Given the description of an element on the screen output the (x, y) to click on. 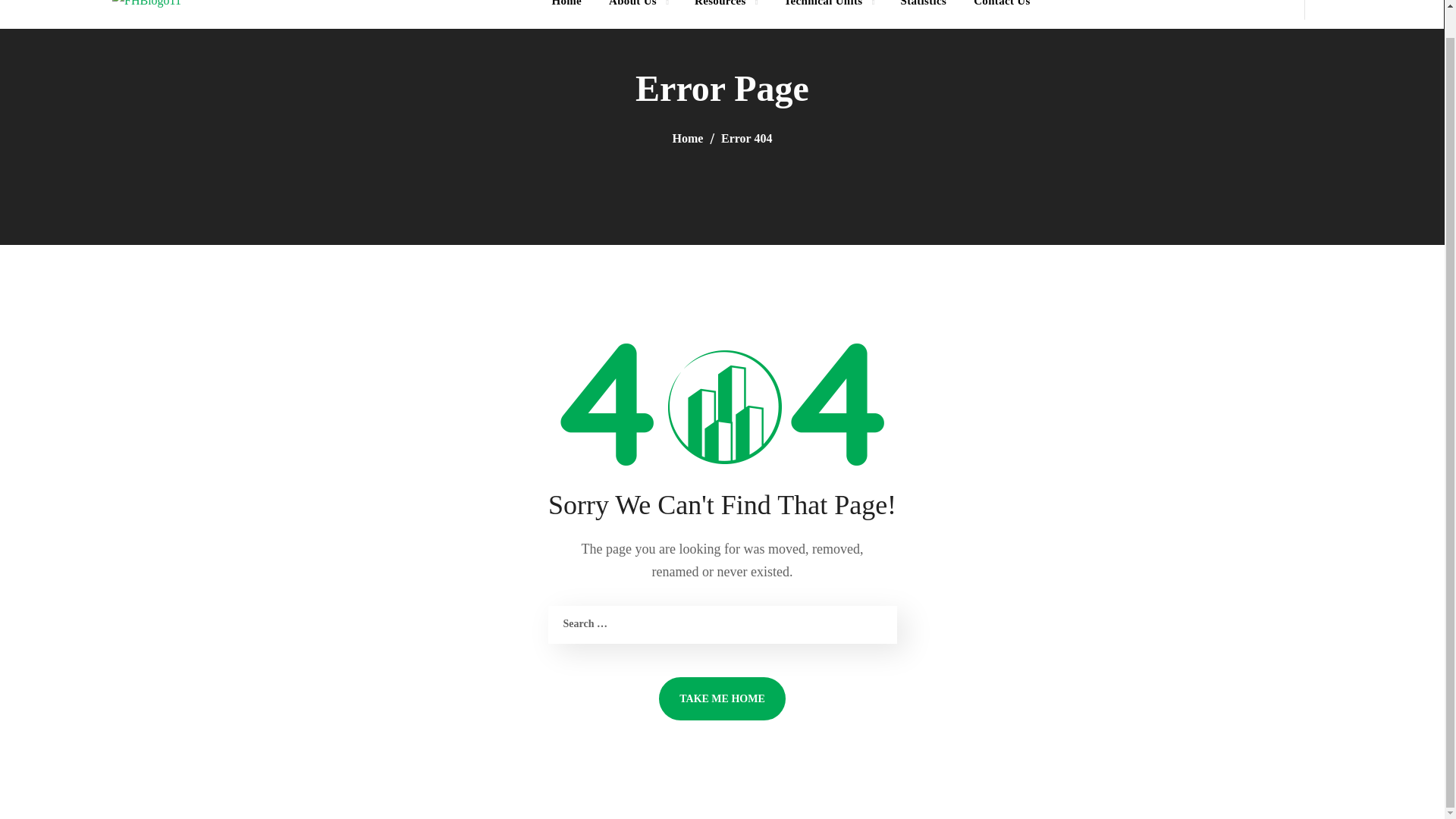
Technical Units (828, 14)
Contact Us (1001, 14)
About Us (638, 14)
Statistics (922, 14)
FHBlogo11 (146, 6)
Search (1381, 66)
Home (566, 14)
Resources (725, 14)
